Given the description of an element on the screen output the (x, y) to click on. 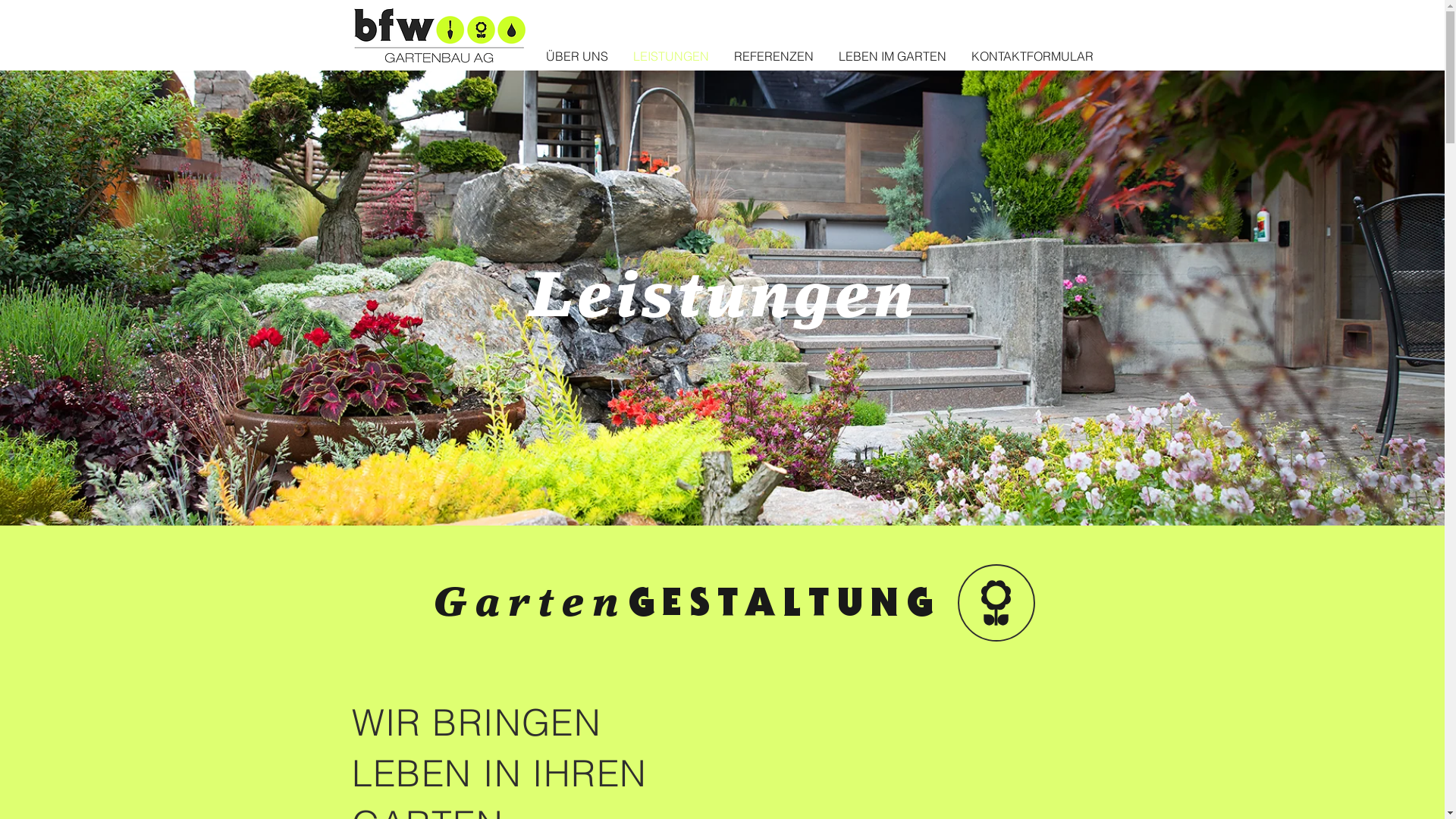
3_bfw_Logo_rgb_web.png Element type: hover (440, 34)
LEBEN IM GARTEN Element type: text (892, 55)
LEISTUNGEN Element type: text (670, 55)
KONTAKTFORMULAR Element type: text (1031, 55)
REFERENZEN Element type: text (773, 55)
